Given the description of an element on the screen output the (x, y) to click on. 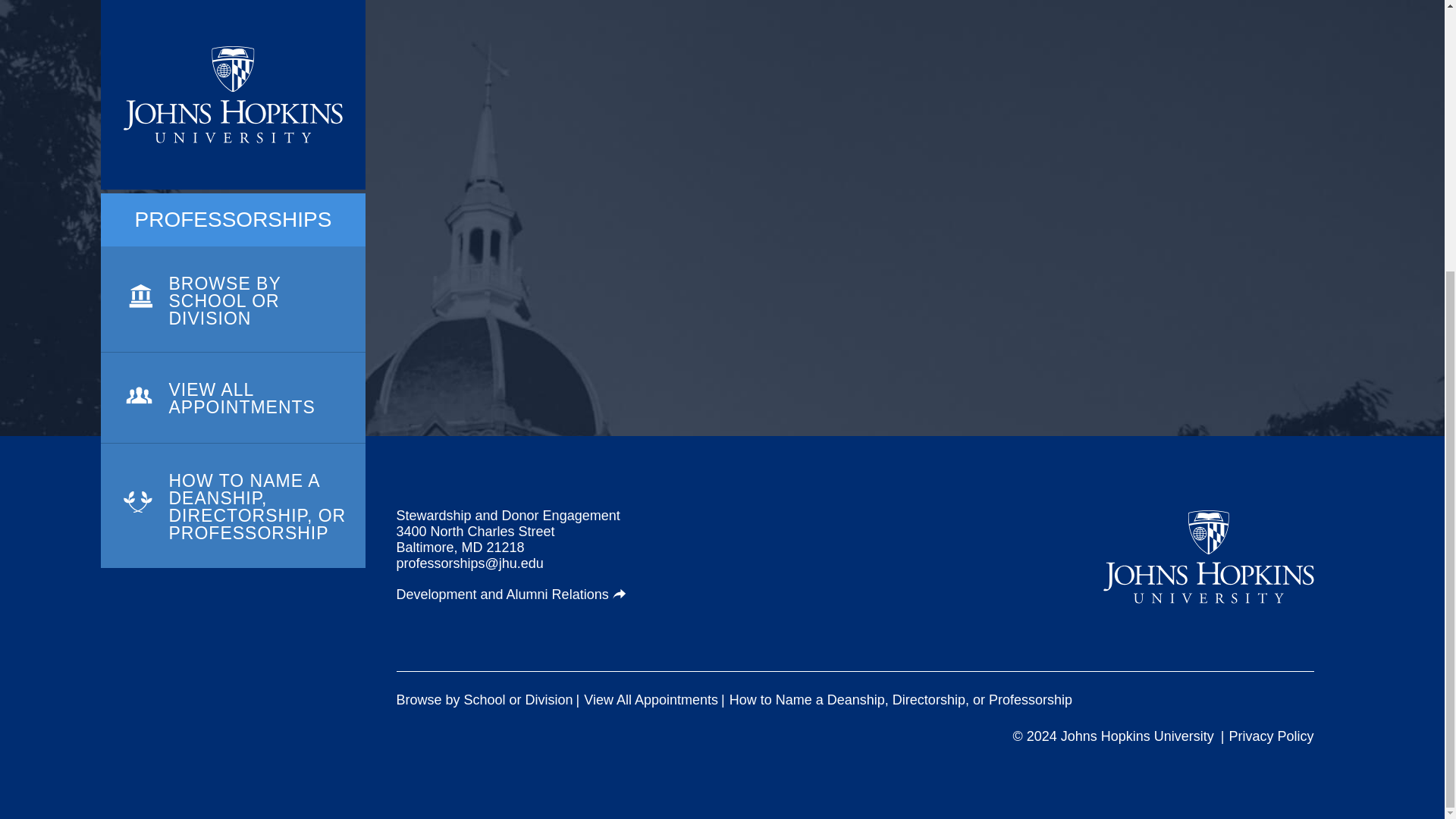
Development and Alumni Relations (511, 594)
HOW TO NAME A DEANSHIP, DIRECTORSHIP, OR PROFESSORSHIP (232, 107)
JHU Professorships (1208, 556)
Privacy Policy (1270, 735)
Browse by School or Division (484, 699)
VIEW ALL APPOINTMENTS (232, 22)
View All Appointments (650, 699)
How to Name a Deanship, Directorship, or Professorship (900, 699)
